Given the description of an element on the screen output the (x, y) to click on. 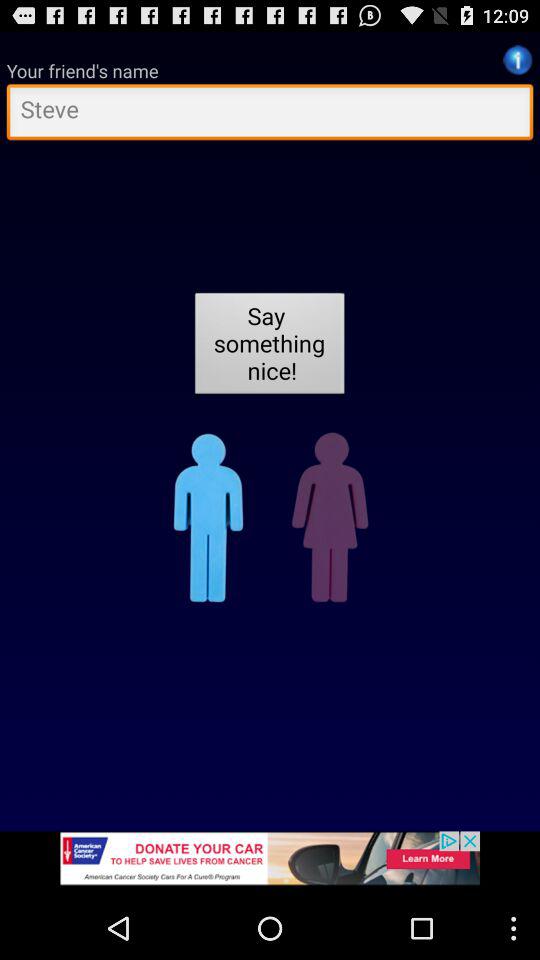
view advertisement (270, 864)
